Given the description of an element on the screen output the (x, y) to click on. 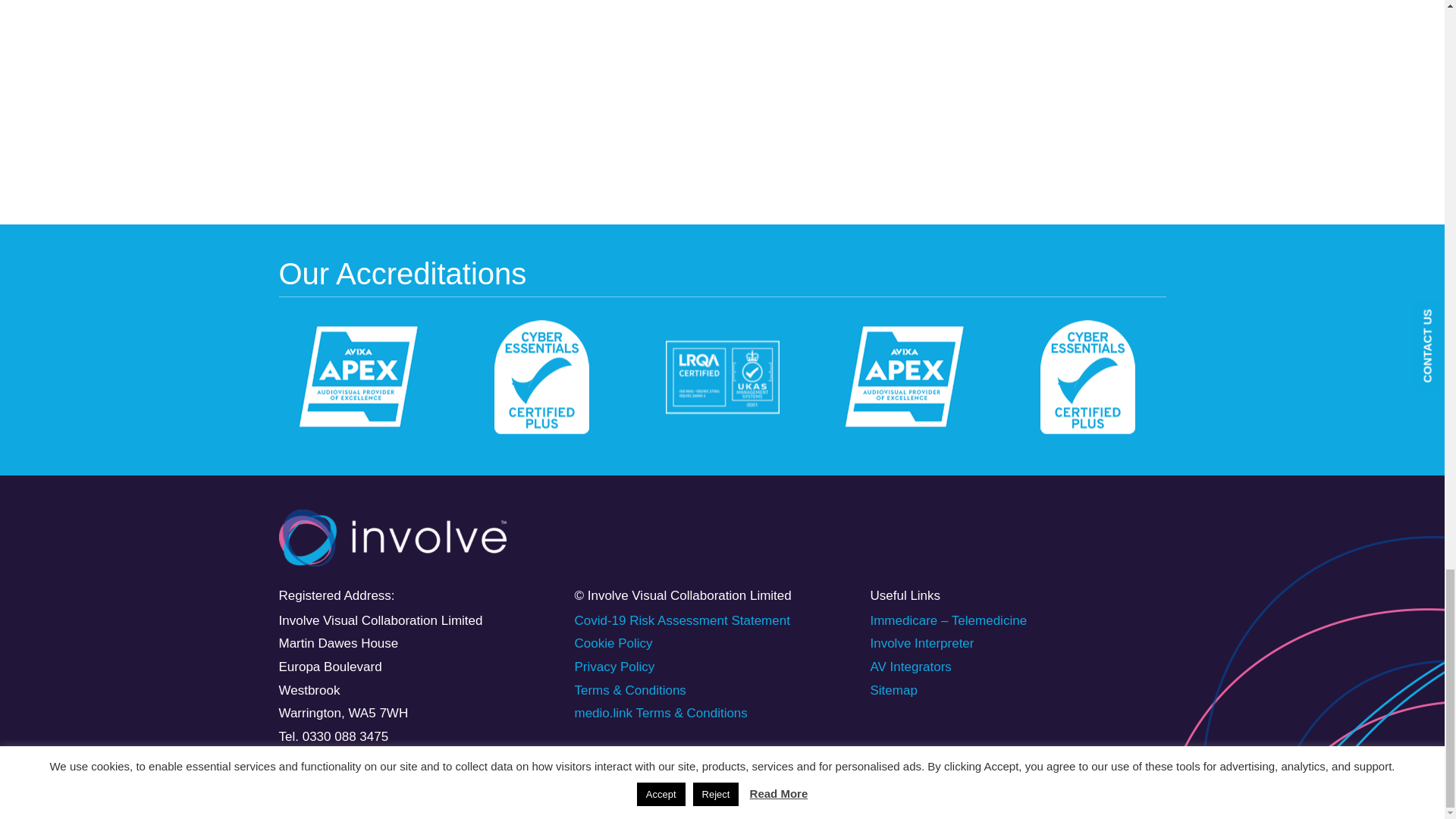
Involve (306, 560)
